Given the description of an element on the screen output the (x, y) to click on. 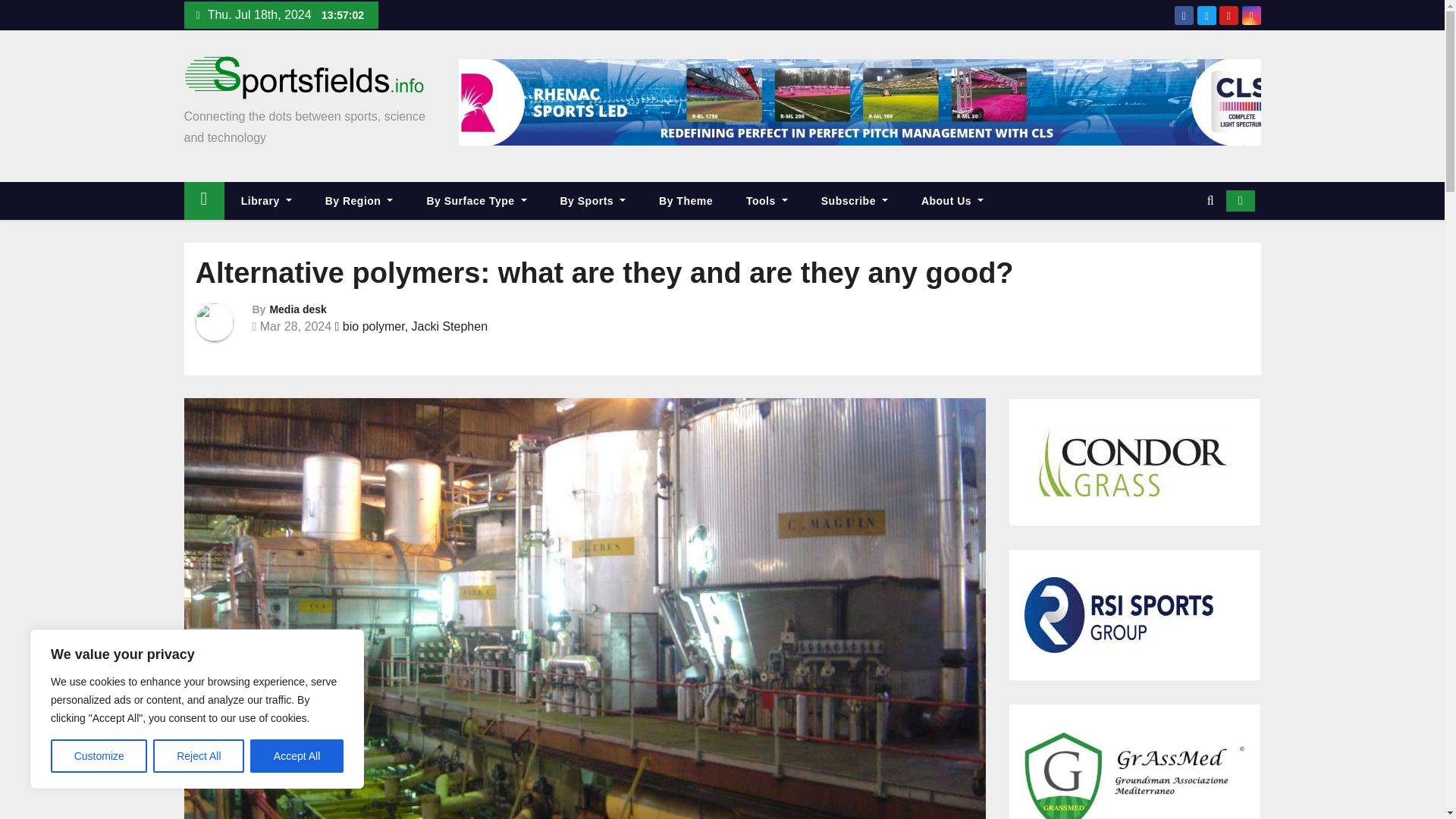
By sports (592, 200)
By Region (359, 200)
Library (266, 200)
Accept All (296, 756)
Customize (98, 756)
Home (203, 200)
By region (359, 200)
By surface type (476, 200)
Library (266, 200)
By Surface Type (476, 200)
Reject All (198, 756)
